Given the description of an element on the screen output the (x, y) to click on. 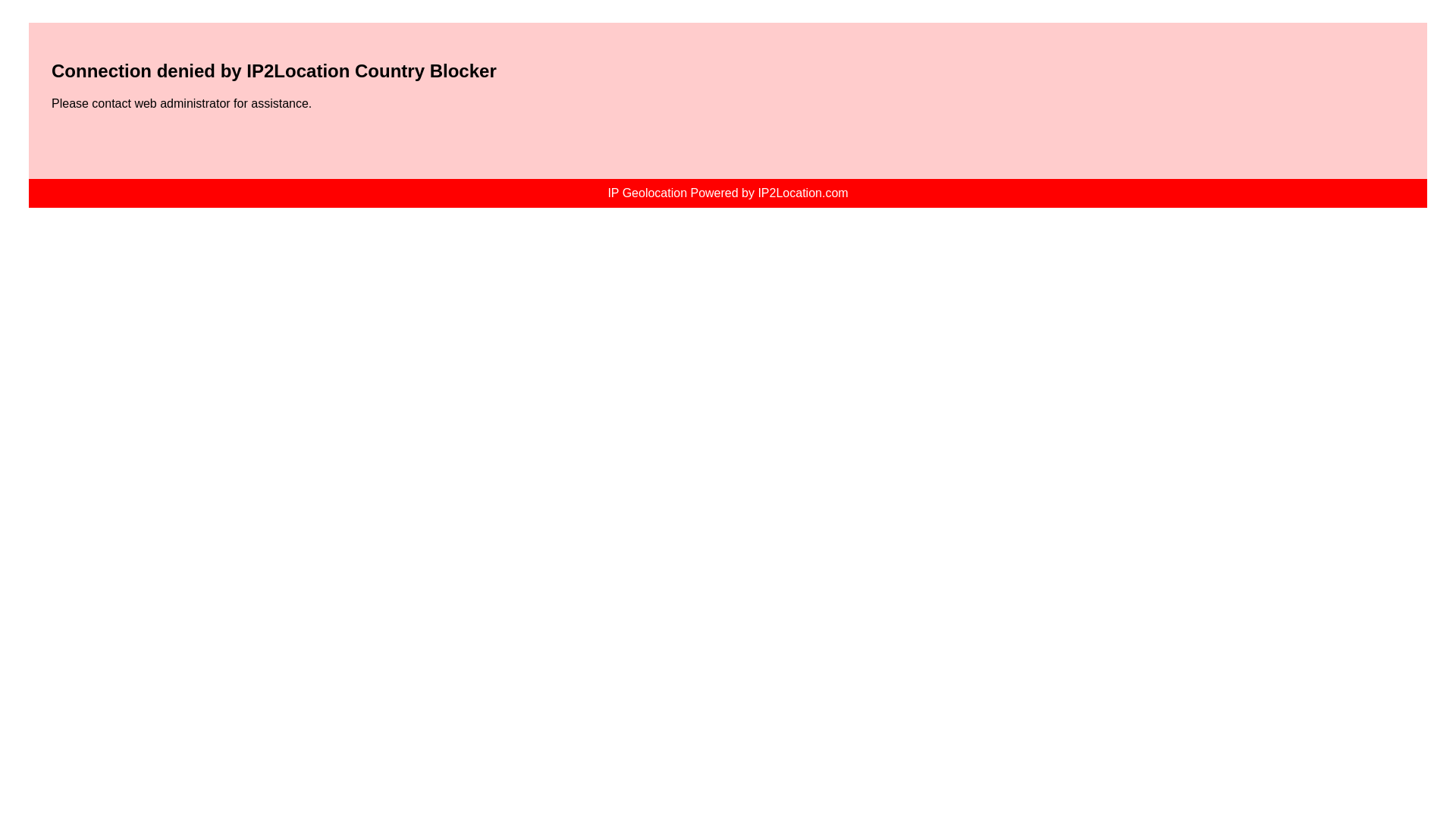
IP Geolocation Powered by IP2Location.com (727, 192)
